Given the description of an element on the screen output the (x, y) to click on. 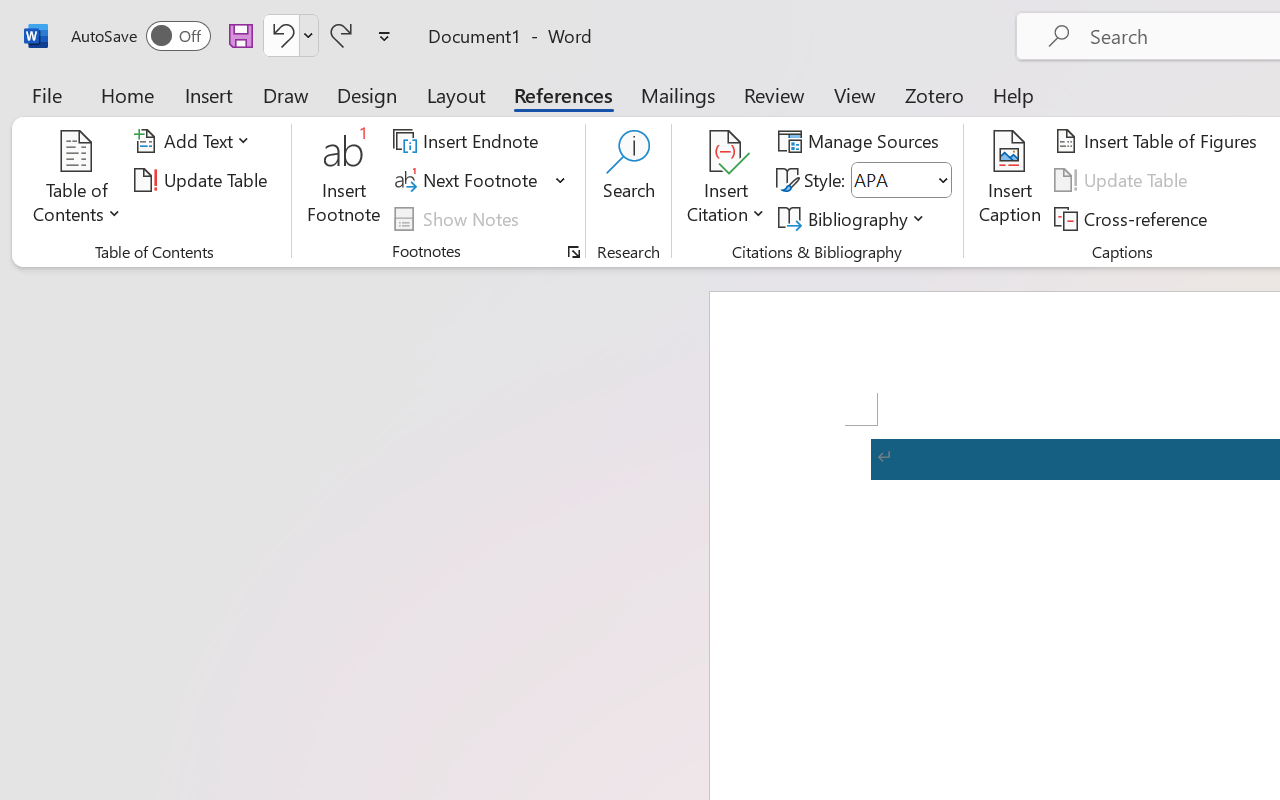
Next Footnote (479, 179)
Insert Citation (726, 179)
Undo Apply Quick Style Set (280, 35)
Insert Table of Figures... (1158, 141)
Insert Footnote (344, 179)
